Given the description of an element on the screen output the (x, y) to click on. 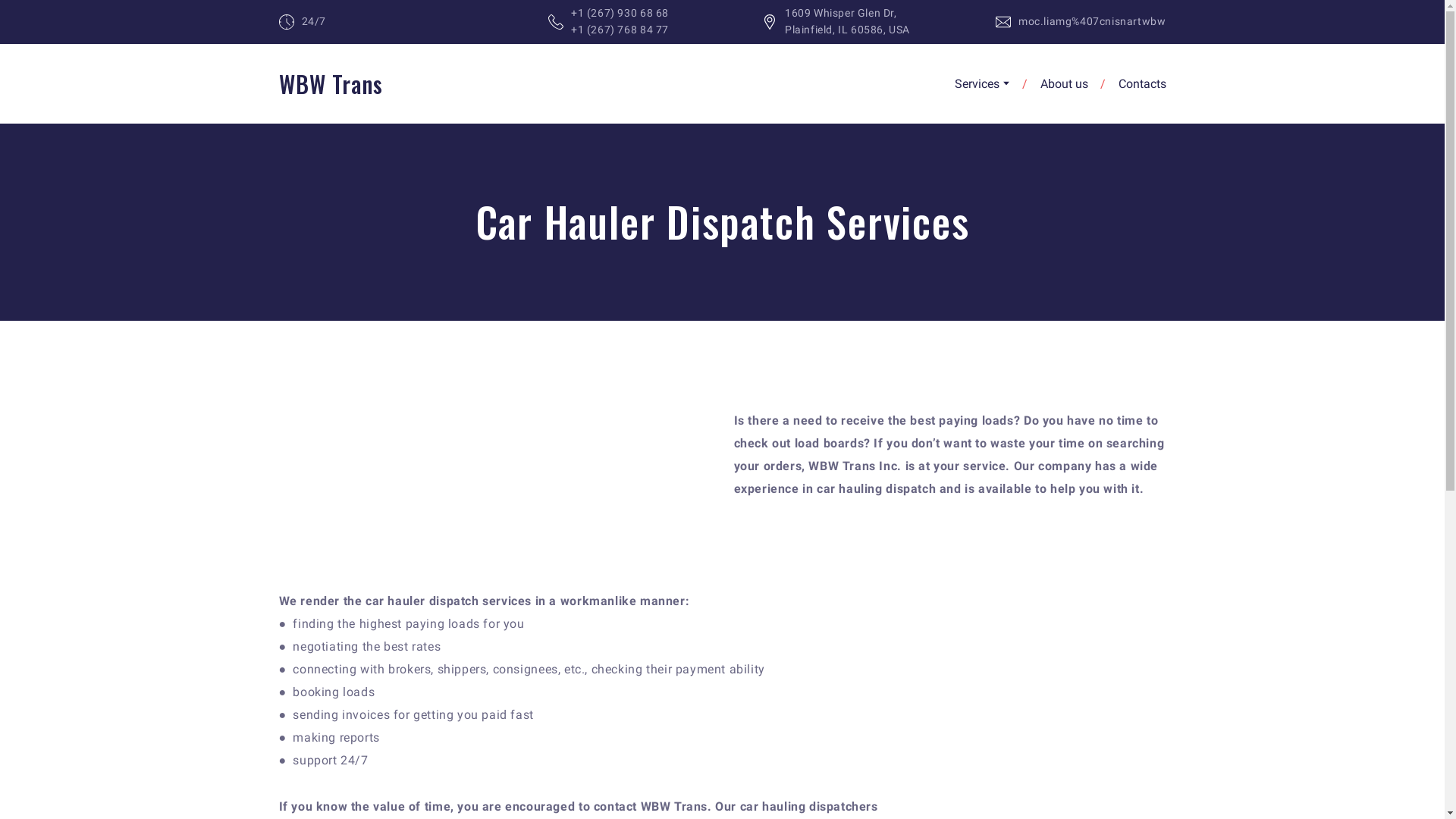
WBW Trans (330, 83)
Services (975, 83)
Contacts (1142, 83)
About us (1064, 83)
